Given the description of an element on the screen output the (x, y) to click on. 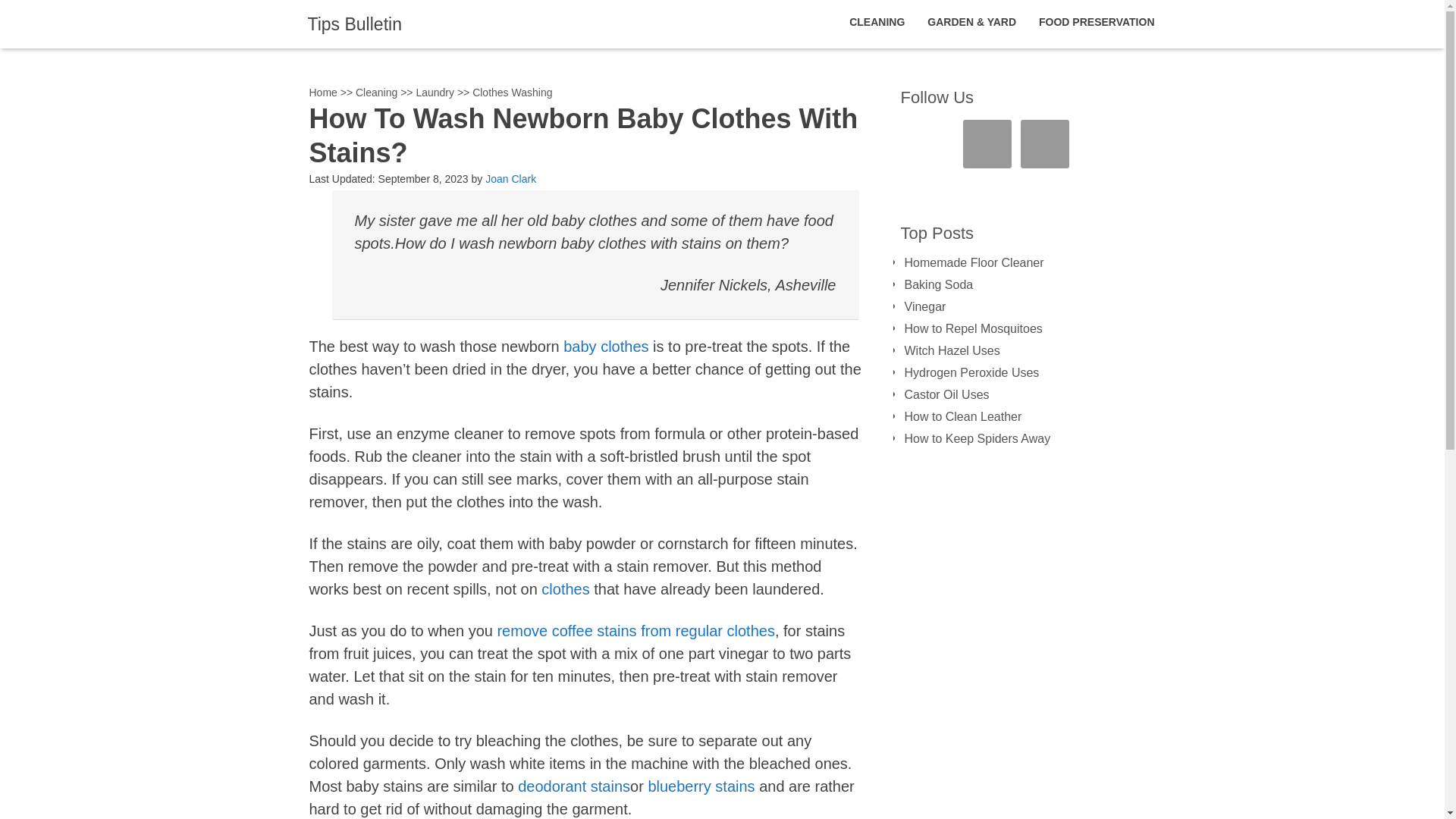
CLEANING (876, 22)
Tips Bulletin (354, 24)
Witch Hazel Uses (951, 350)
Homemade Floor Cleaner (973, 262)
How to Repel Mosquitoes (973, 328)
Clothes Washing (511, 92)
Baking Soda (938, 284)
blueberry stains (700, 786)
baby clothes (605, 346)
Vinegar (924, 306)
